Given the description of an element on the screen output the (x, y) to click on. 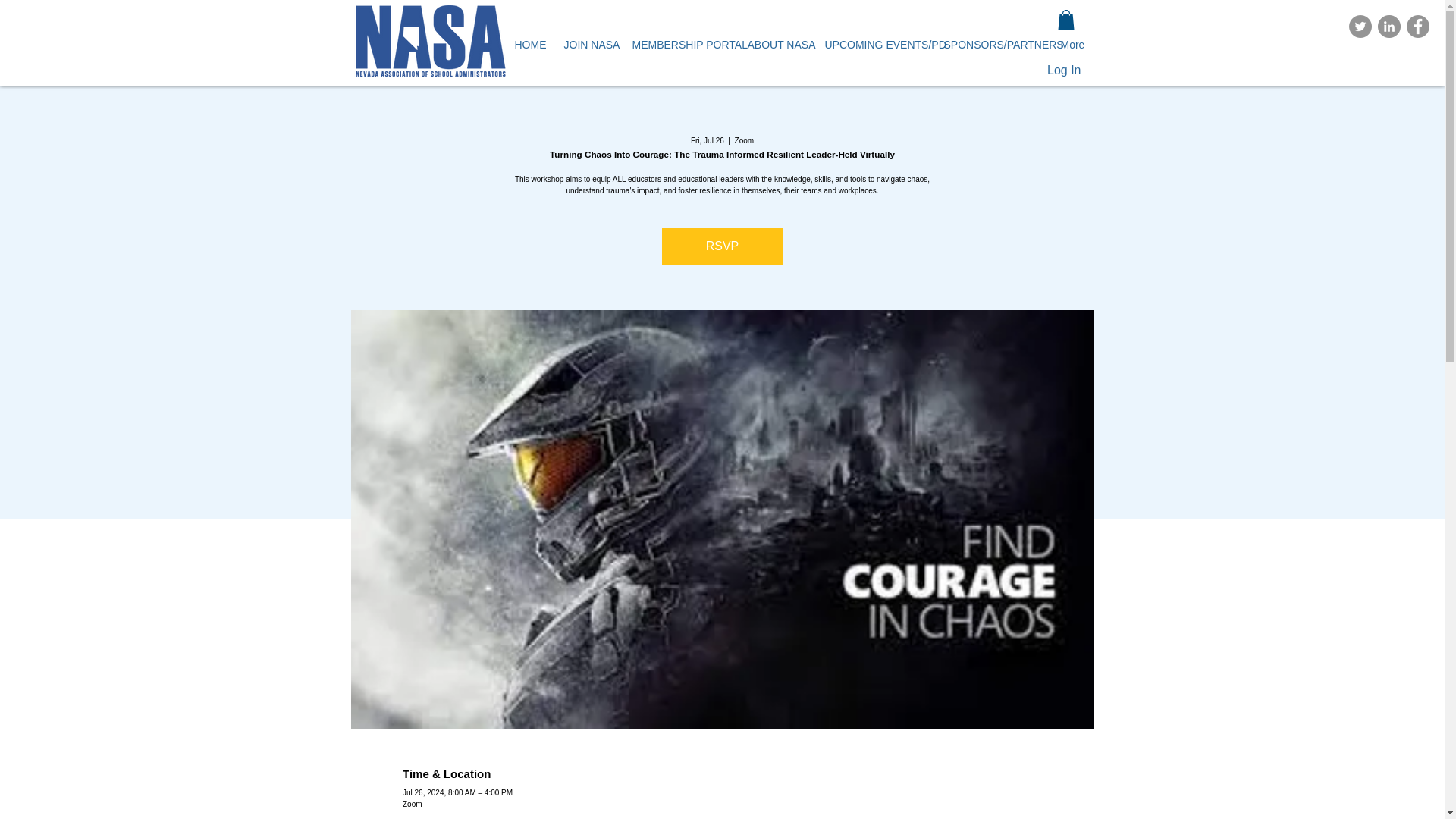
RSVP (722, 246)
Log In (1048, 70)
HOME (528, 44)
MEMBERSHIP PORTAL (677, 44)
ABOUT NASA (773, 44)
JOIN NASA (585, 44)
